Given the description of an element on the screen output the (x, y) to click on. 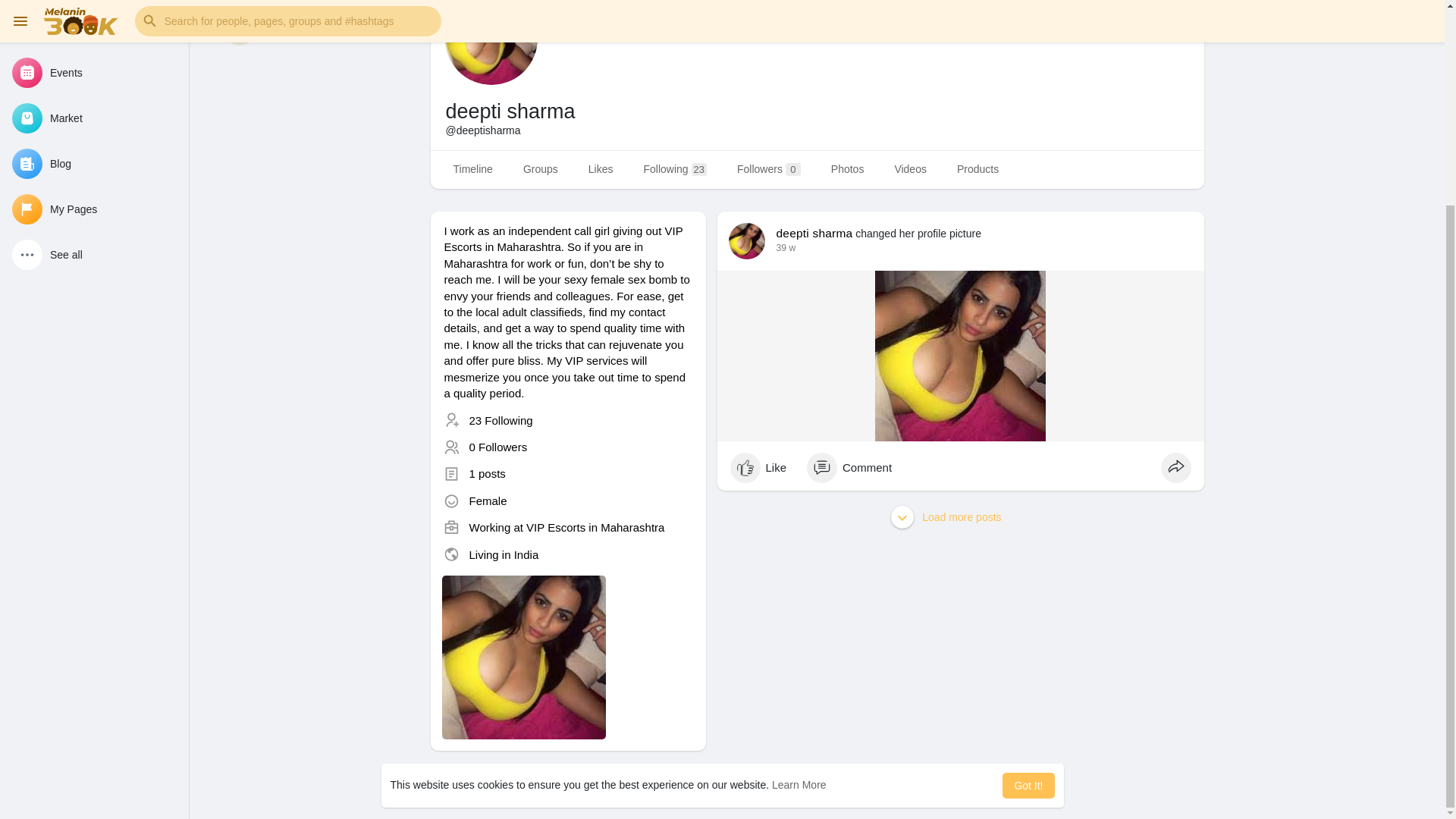
39 w (786, 247)
Learn More (799, 520)
Got It! (1028, 520)
